Given the description of an element on the screen output the (x, y) to click on. 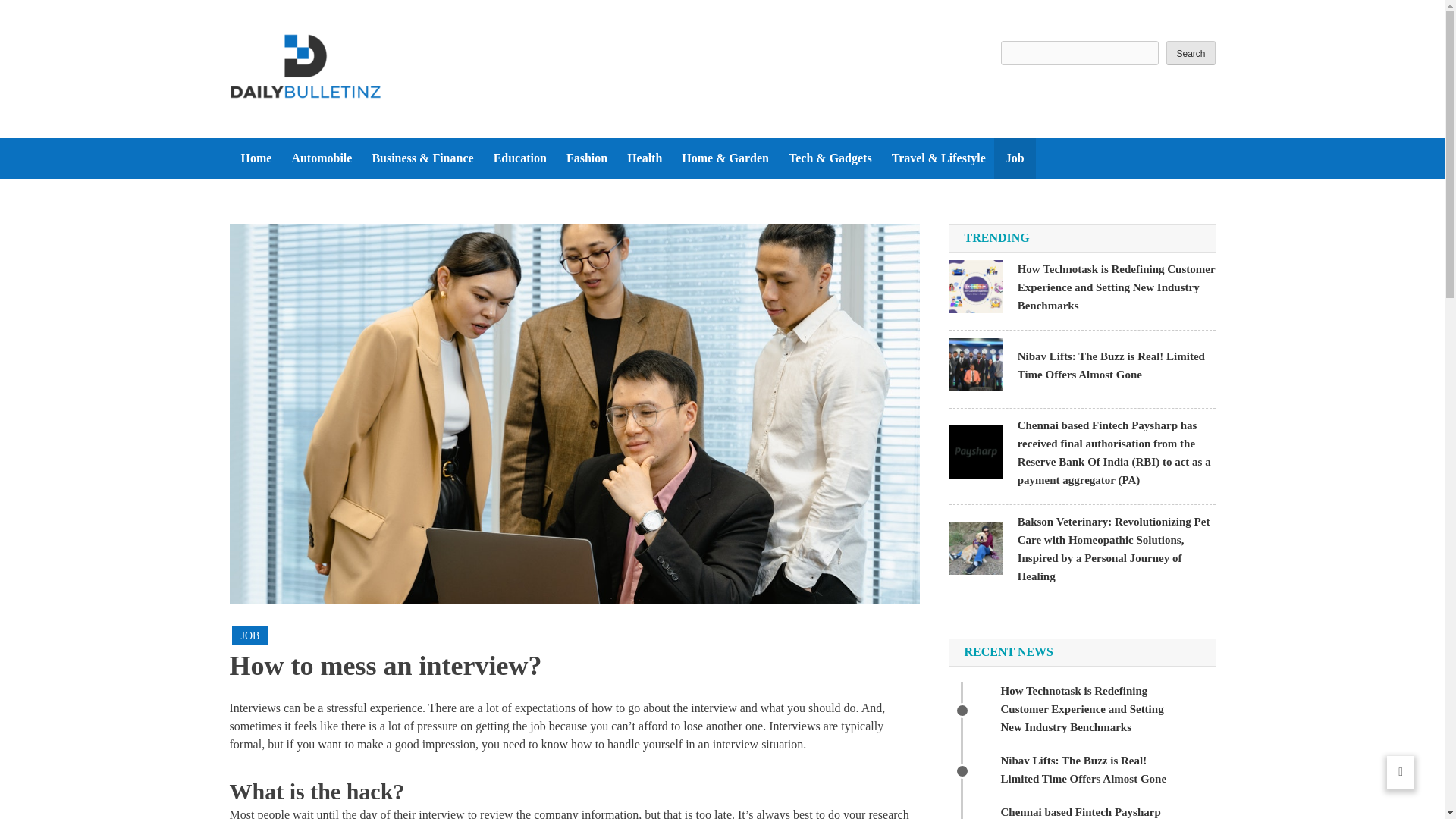
Fashion (586, 158)
Search (1190, 52)
Health (643, 158)
Automobile (320, 158)
Home (255, 158)
Education (519, 158)
